Given the description of an element on the screen output the (x, y) to click on. 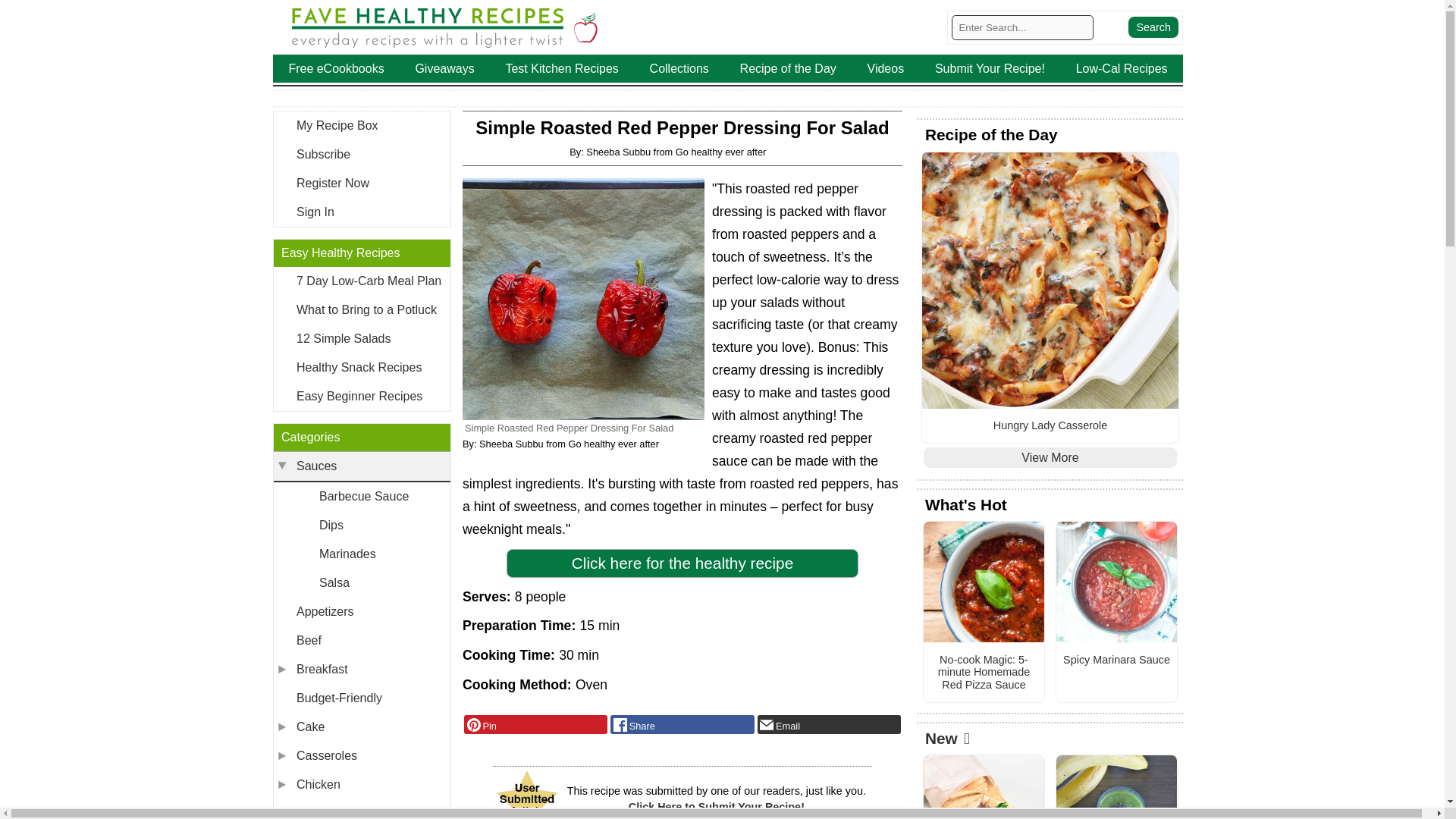
Subscribe (361, 154)
Sign In (361, 212)
Search (1152, 26)
Register Now (361, 183)
Facebook (682, 724)
My Recipe Box (361, 125)
Simple Roasted Red Pepper Dressing For Salad (583, 299)
Email (829, 724)
